Given the description of an element on the screen output the (x, y) to click on. 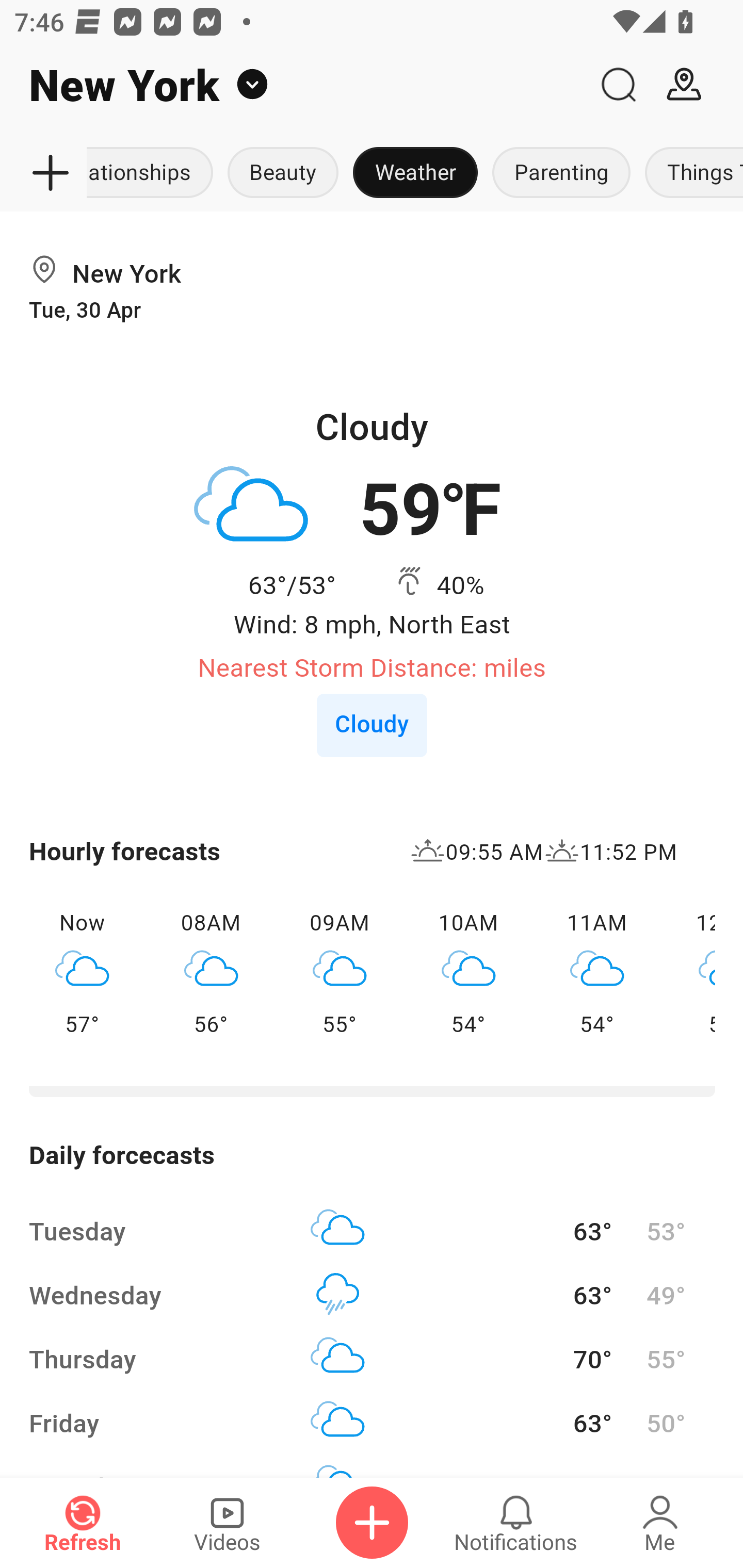
New York (292, 84)
Relationships (153, 172)
Beauty (282, 172)
Weather (415, 172)
Parenting (561, 172)
Things To Do (690, 172)
Videos (227, 1522)
Notifications (516, 1522)
Me (659, 1522)
